Given the description of an element on the screen output the (x, y) to click on. 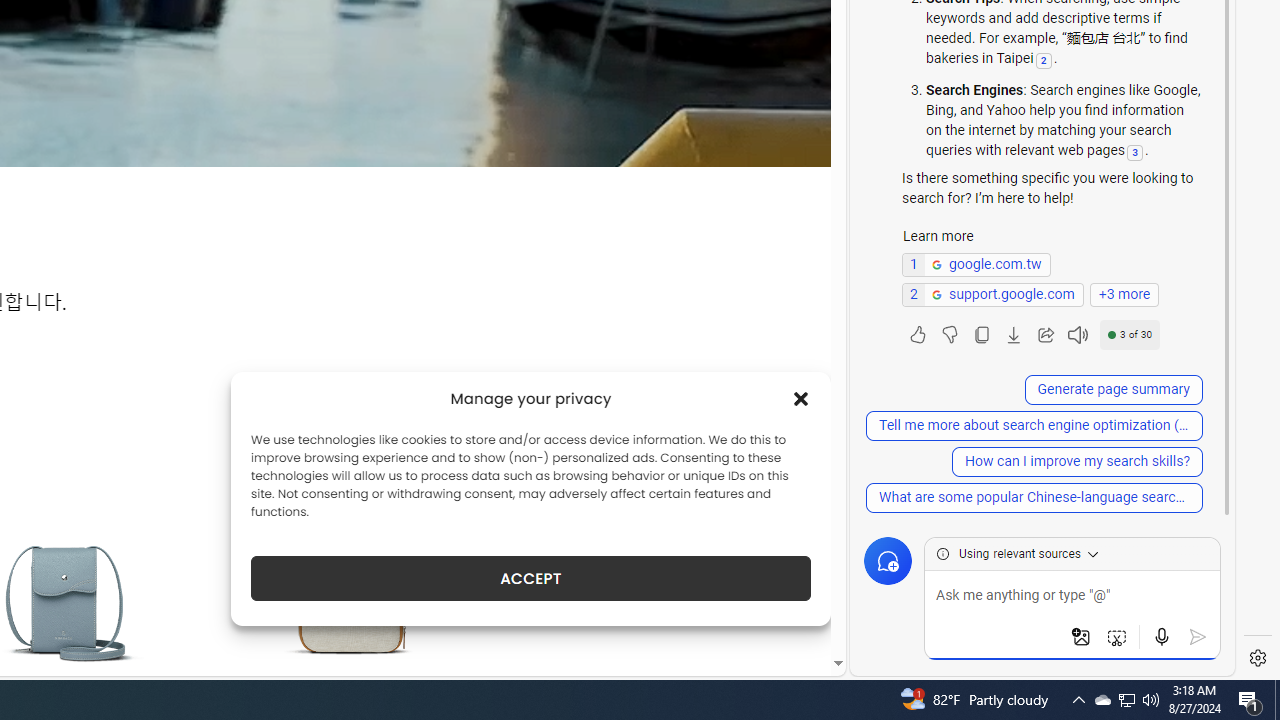
Settings (1258, 658)
ACCEPT (530, 578)
Class: cmplz-close (801, 398)
